Given the description of an element on the screen output the (x, y) to click on. 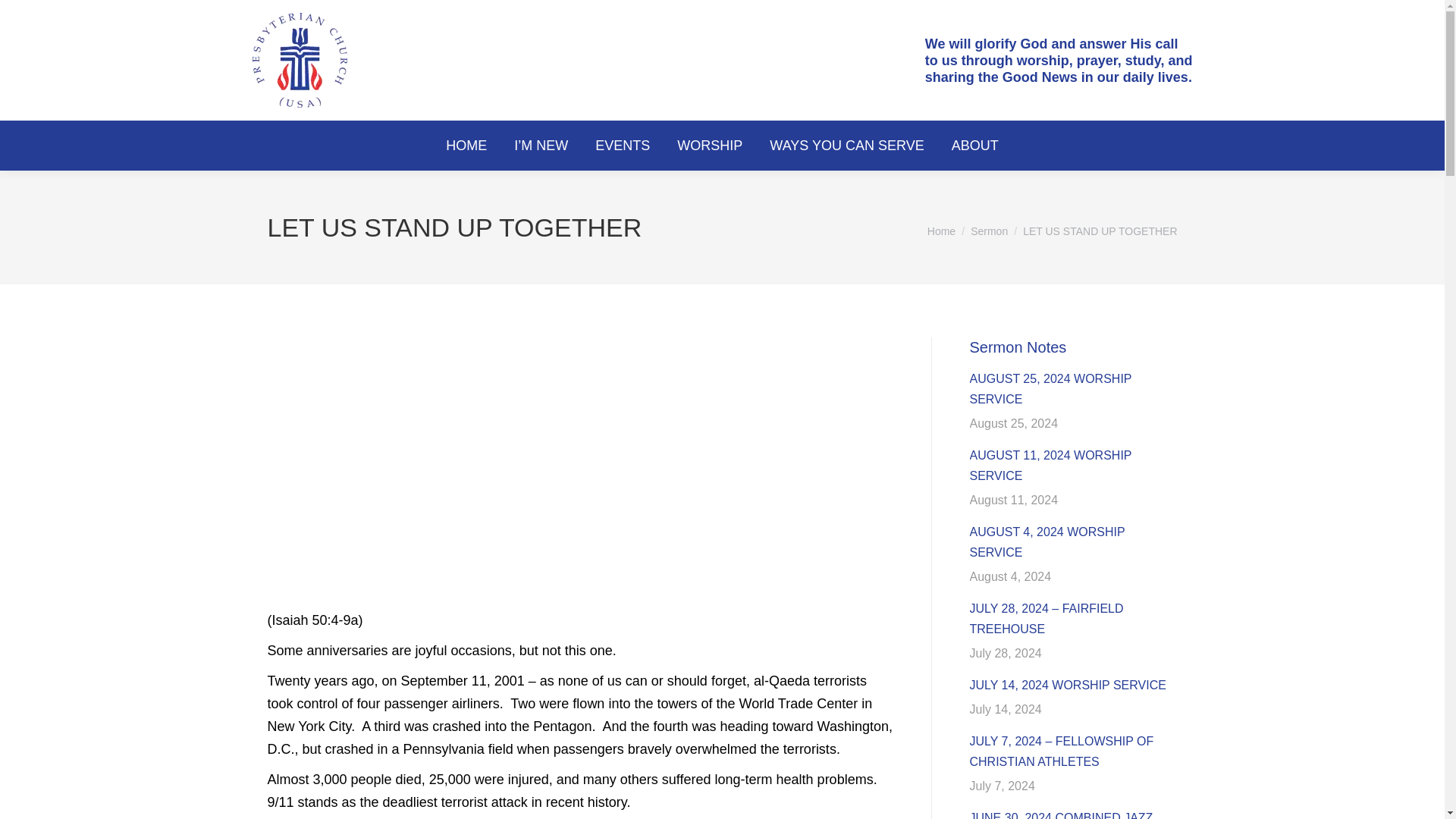
WORSHIP (709, 145)
HOME (465, 145)
ABOUT (975, 145)
Home (941, 231)
Sermon (989, 231)
EVENTS (622, 145)
WAYS YOU CAN SERVE (846, 145)
Home (941, 231)
Sermon (989, 231)
